Given the description of an element on the screen output the (x, y) to click on. 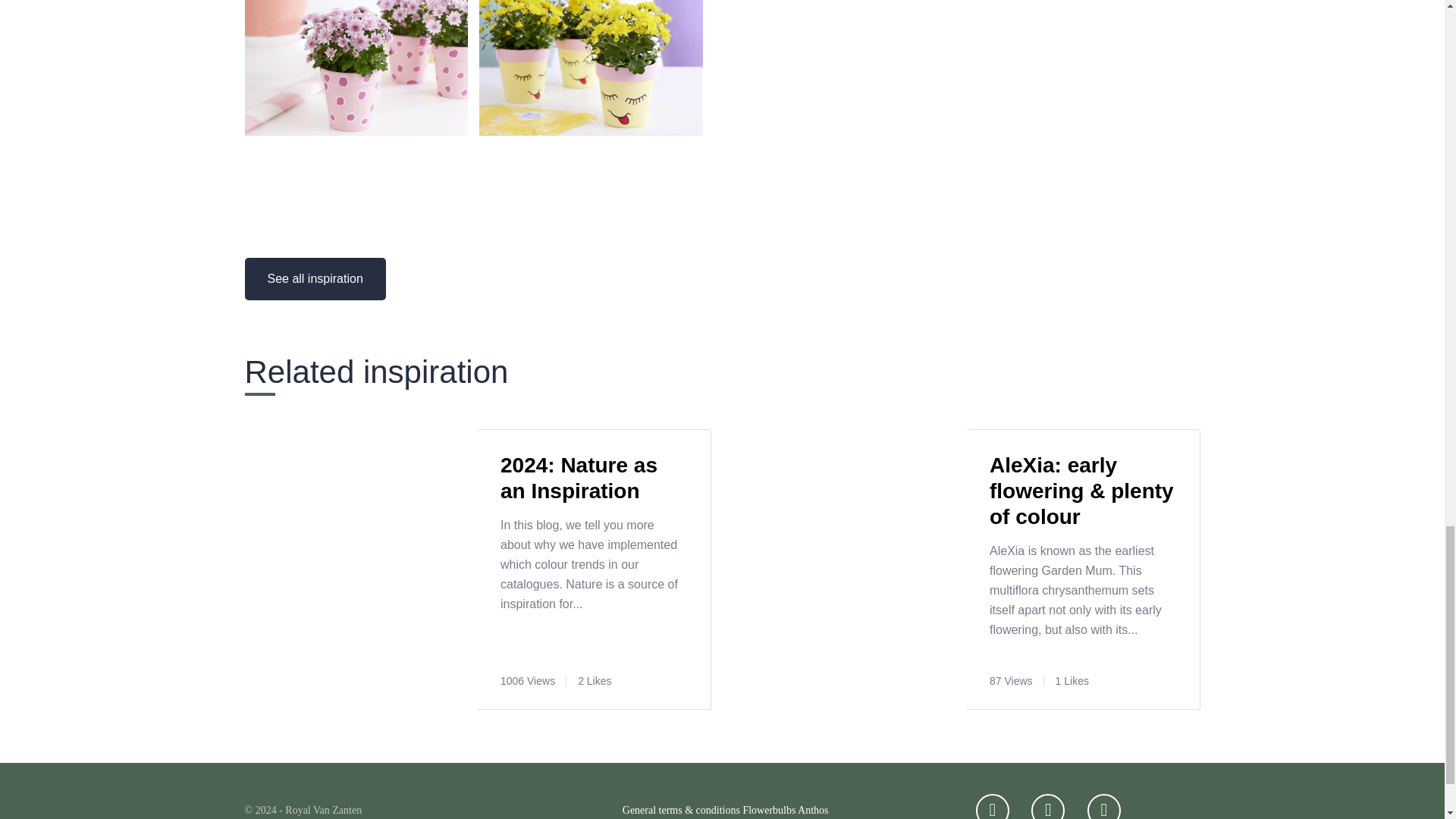
Milkshake-Banana-pot-2 (591, 131)
Milkshake-Raspberry-pot-1 (355, 131)
See all inspiration (314, 278)
